Given the description of an element on the screen output the (x, y) to click on. 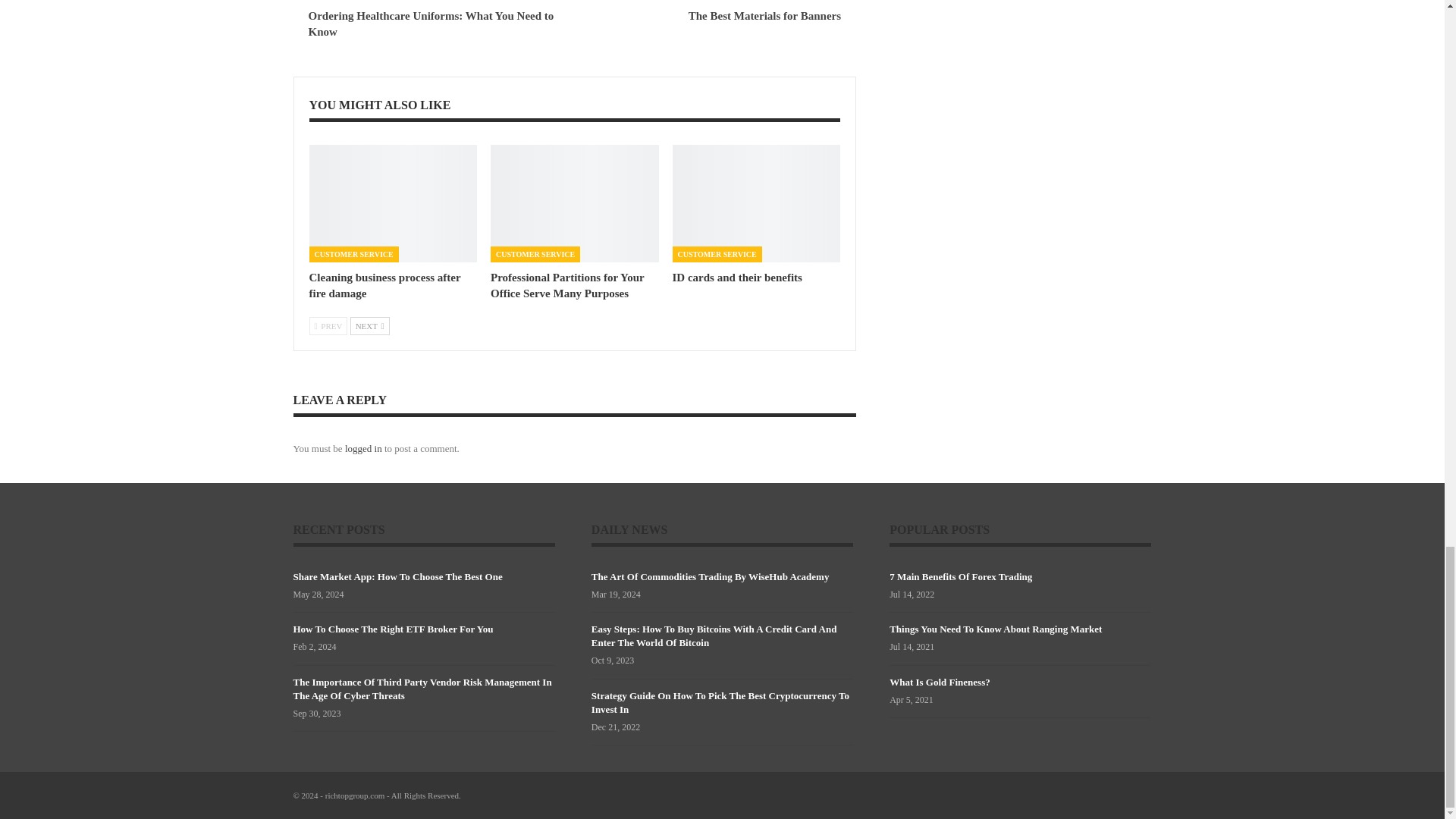
Professional Partitions for Your Office Serve Many Purposes (574, 203)
CUSTOMER SERVICE (534, 254)
CUSTOMER SERVICE (353, 254)
YOU MIGHT ALSO LIKE (379, 104)
Ordering Healthcare Uniforms: What You Need to Know (430, 23)
CUSTOMER SERVICE (716, 254)
Professional Partitions for Your Office Serve Many Purposes (566, 285)
ID cards and their benefits (756, 203)
Professional Partitions for Your Office Serve Many Purposes (566, 285)
The Best Materials for Banners (764, 15)
ID cards and their benefits (737, 277)
ID cards and their benefits (737, 277)
Next (370, 325)
Cleaning business process after fire damage (384, 285)
Previous (327, 325)
